Given the description of an element on the screen output the (x, y) to click on. 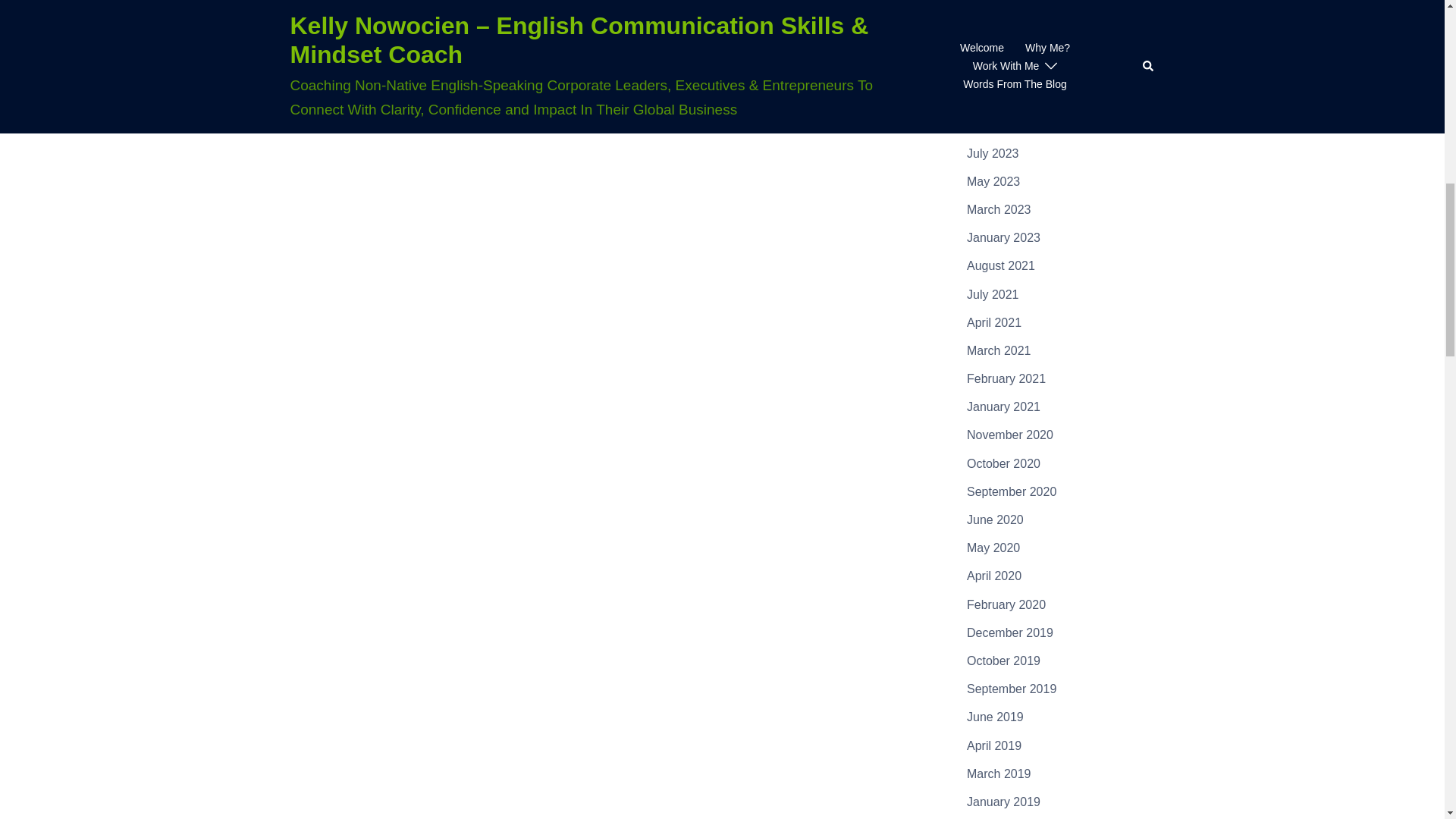
May 2024 (993, 11)
March 2024 (998, 40)
May 2023 (993, 181)
July 2023 (992, 153)
September 2023 (1011, 124)
November 2023 (1009, 96)
February 2024 (1005, 68)
